Given the description of an element on the screen output the (x, y) to click on. 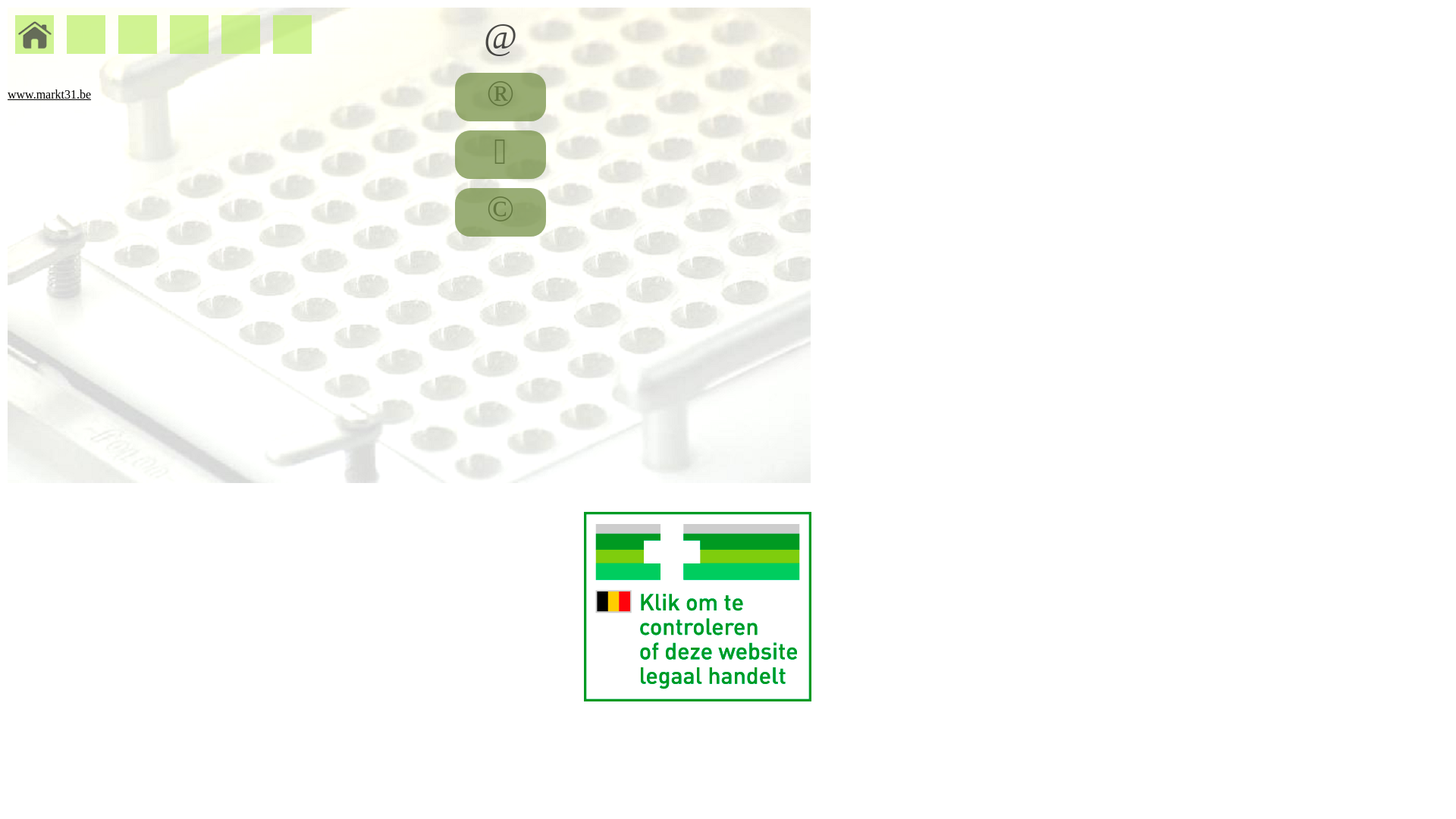
www.markt31.be Element type: text (409, 94)
naar de startpagina Element type: hover (34, 33)
